Given the description of an element on the screen output the (x, y) to click on. 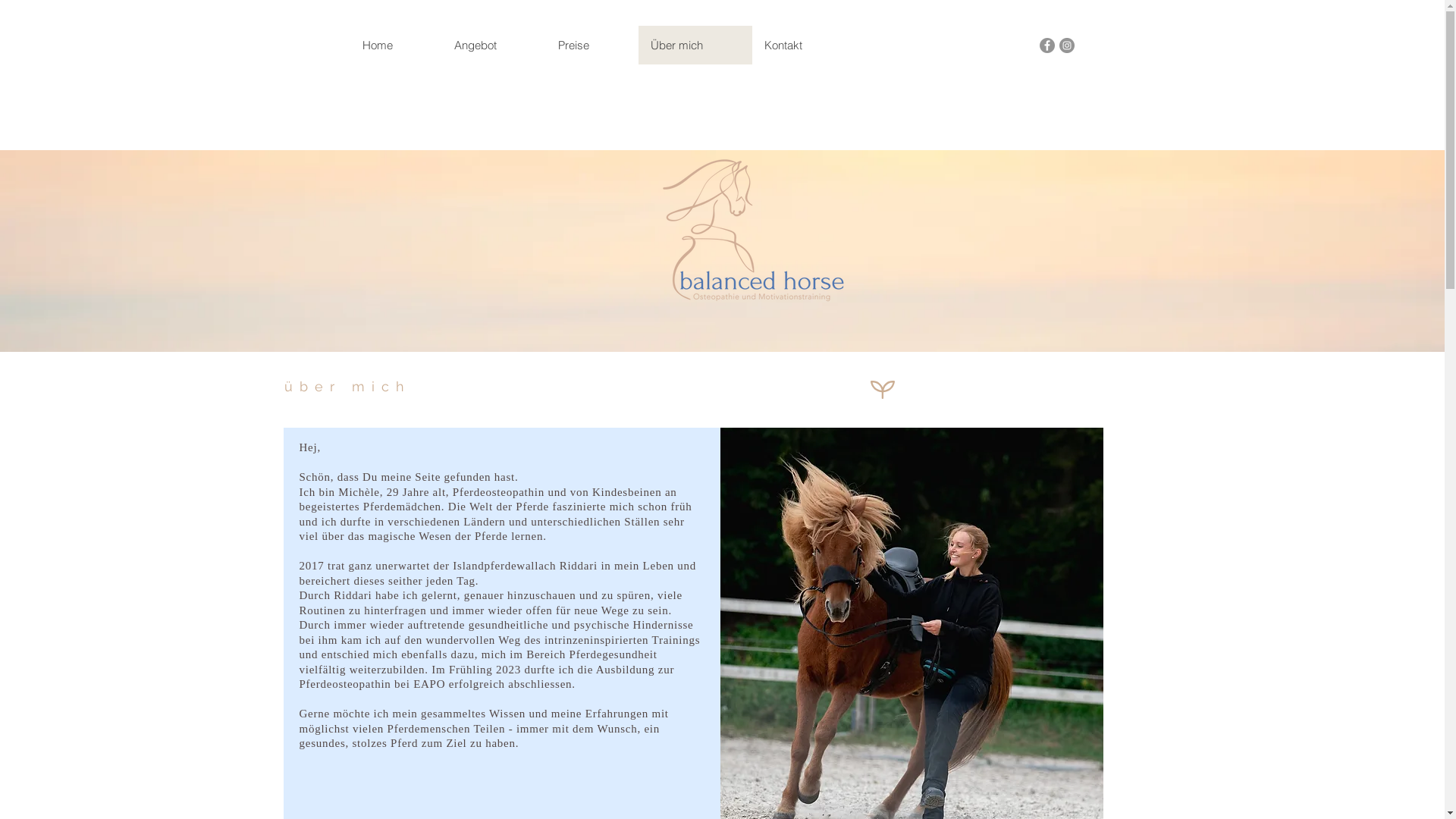
Kontakt Element type: text (801, 44)
Home Element type: text (395, 44)
Angebot Element type: text (493, 44)
balanced_horse_Logo[1].png Element type: hover (754, 229)
Preise Element type: text (592, 44)
